Given the description of an element on the screen output the (x, y) to click on. 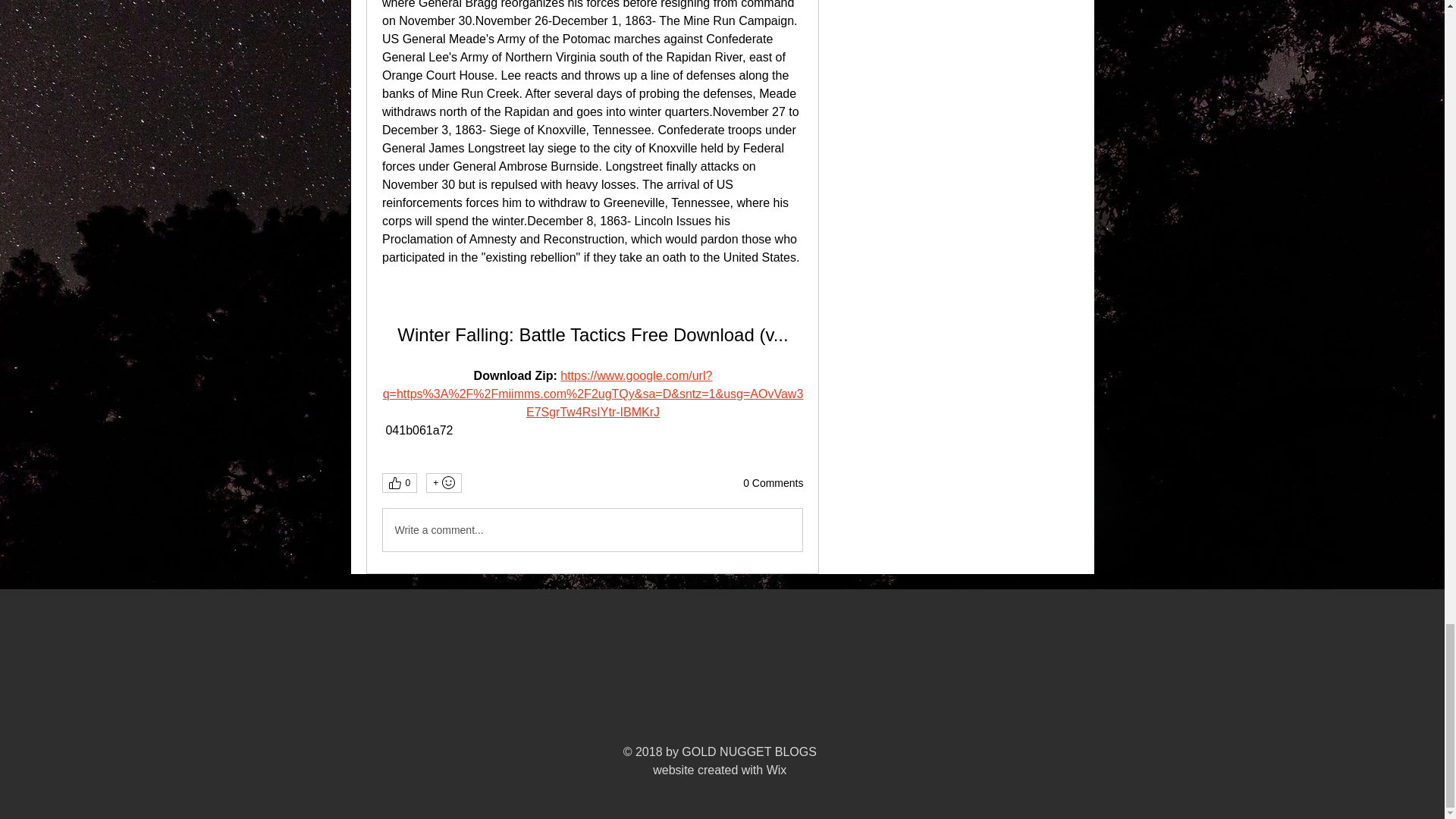
0 Comments (772, 483)
Write a comment... (591, 529)
